Given the description of an element on the screen output the (x, y) to click on. 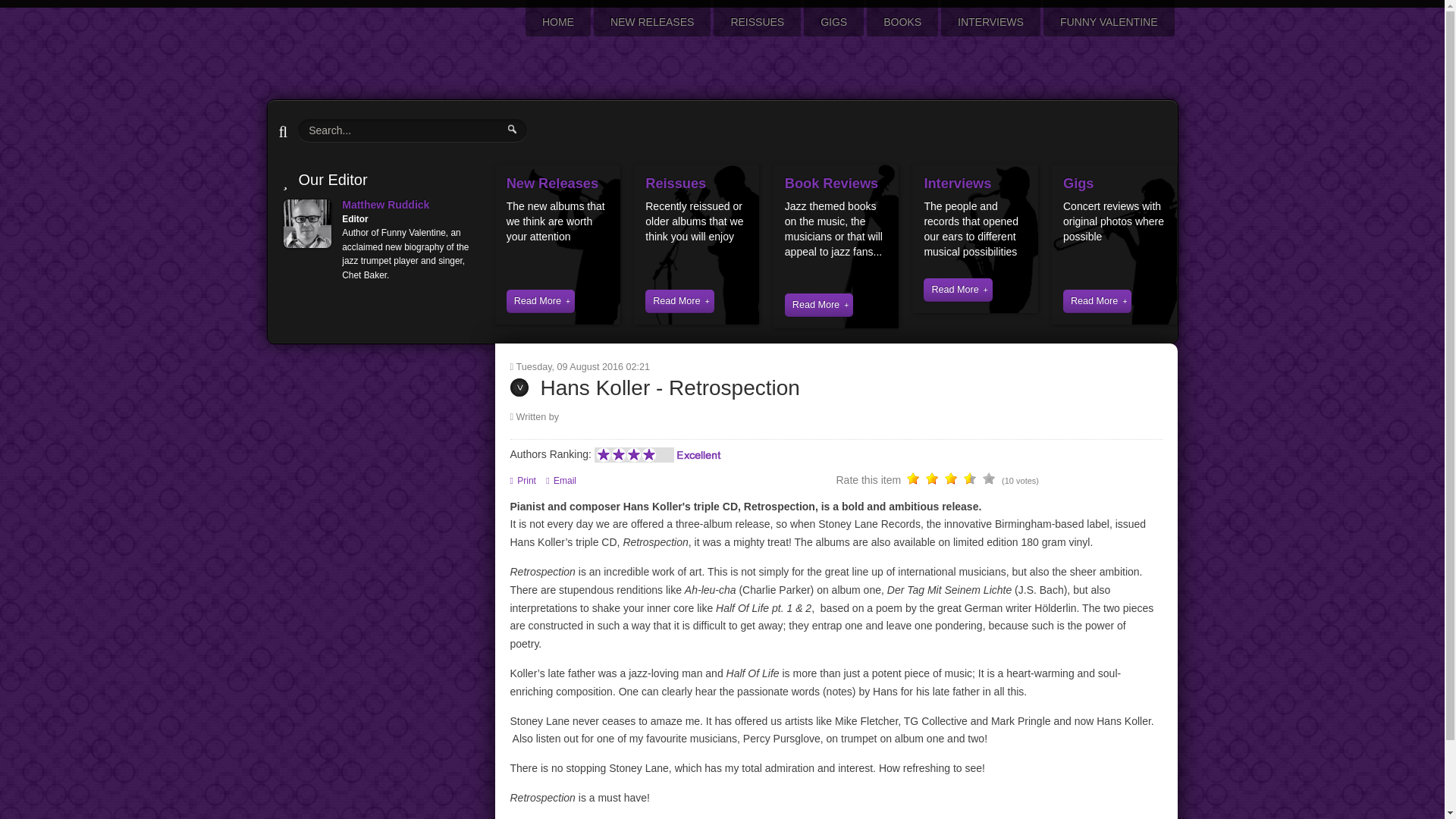
Search... (412, 129)
2 stars out of 5 (923, 480)
Matthew Ruddick (385, 204)
2 (923, 480)
INTERVIEWS (990, 21)
HOME (558, 21)
BOOKS (901, 21)
Read More (818, 304)
Print (523, 480)
Reissues (675, 183)
